Given the description of an element on the screen output the (x, y) to click on. 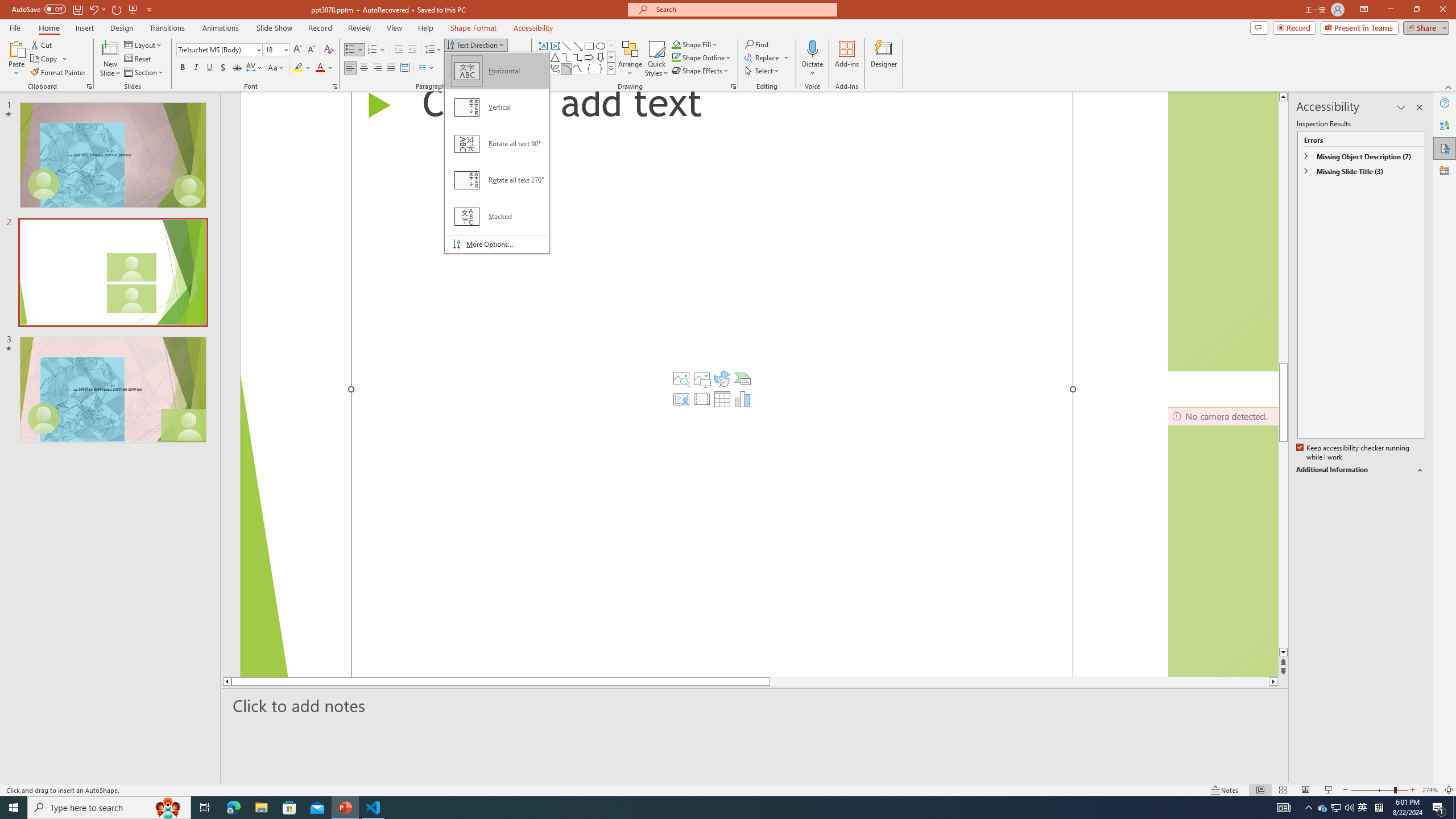
Insert Chart (742, 398)
Insert Table (721, 398)
IME Mode Icon - IME is disabled (1362, 807)
